Given the description of an element on the screen output the (x, y) to click on. 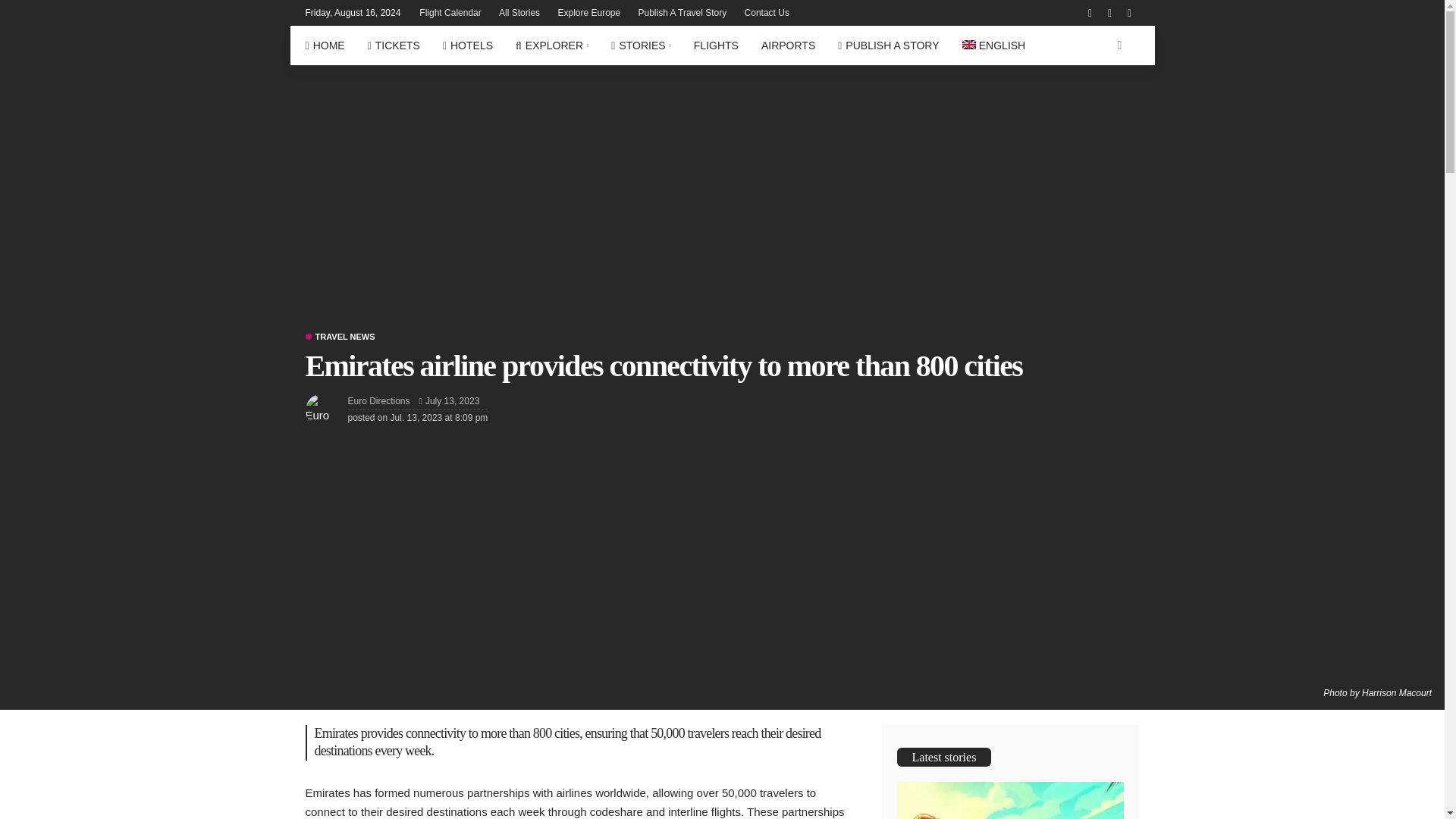
Explore Europe (588, 12)
Flight Calendar (449, 12)
All Stories (519, 12)
Publish A Travel Story (682, 12)
English (993, 45)
Contact Us (766, 12)
search (1118, 45)
